Given the description of an element on the screen output the (x, y) to click on. 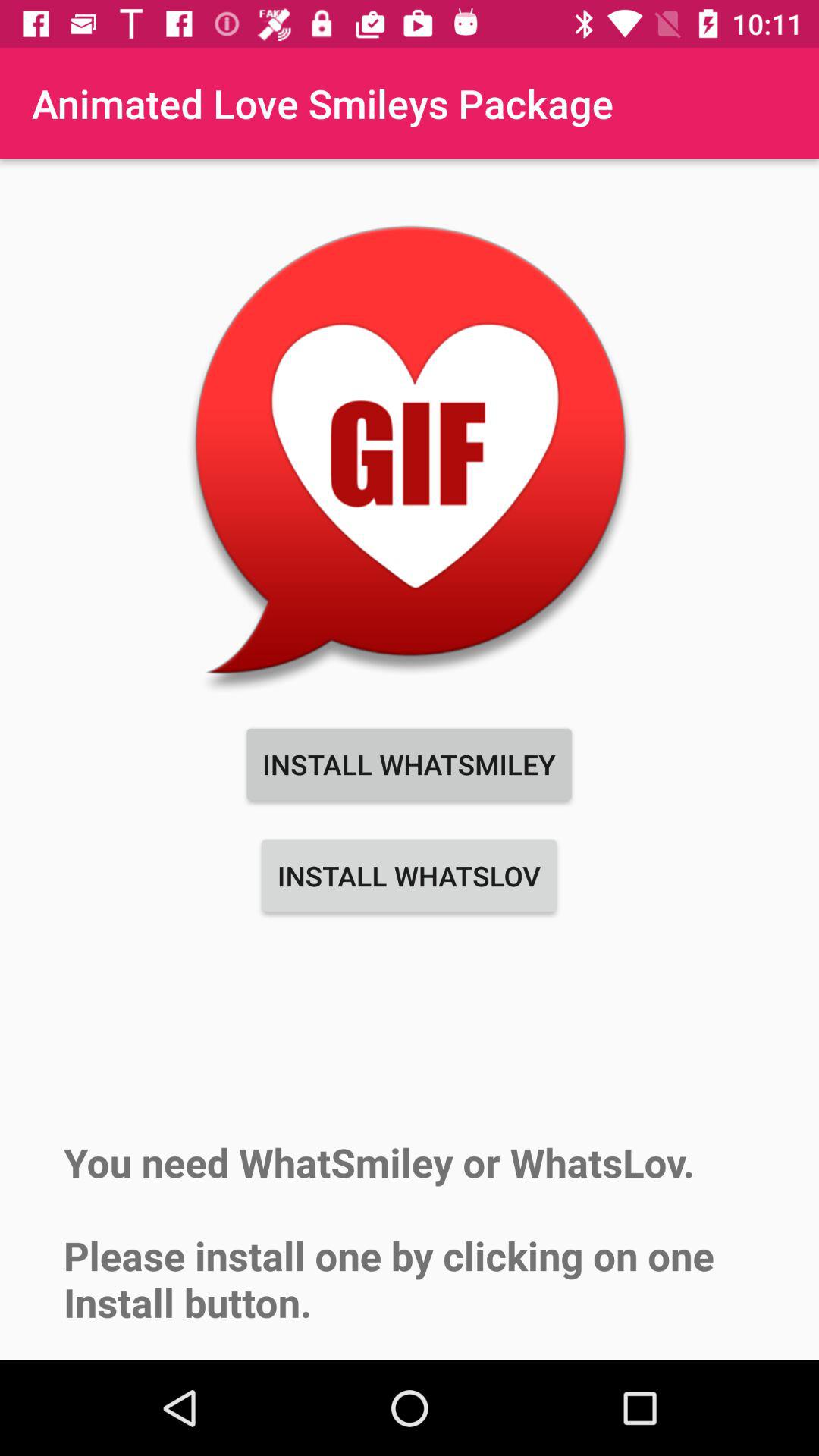
tap icon below animated love smileys icon (409, 453)
